Given the description of an element on the screen output the (x, y) to click on. 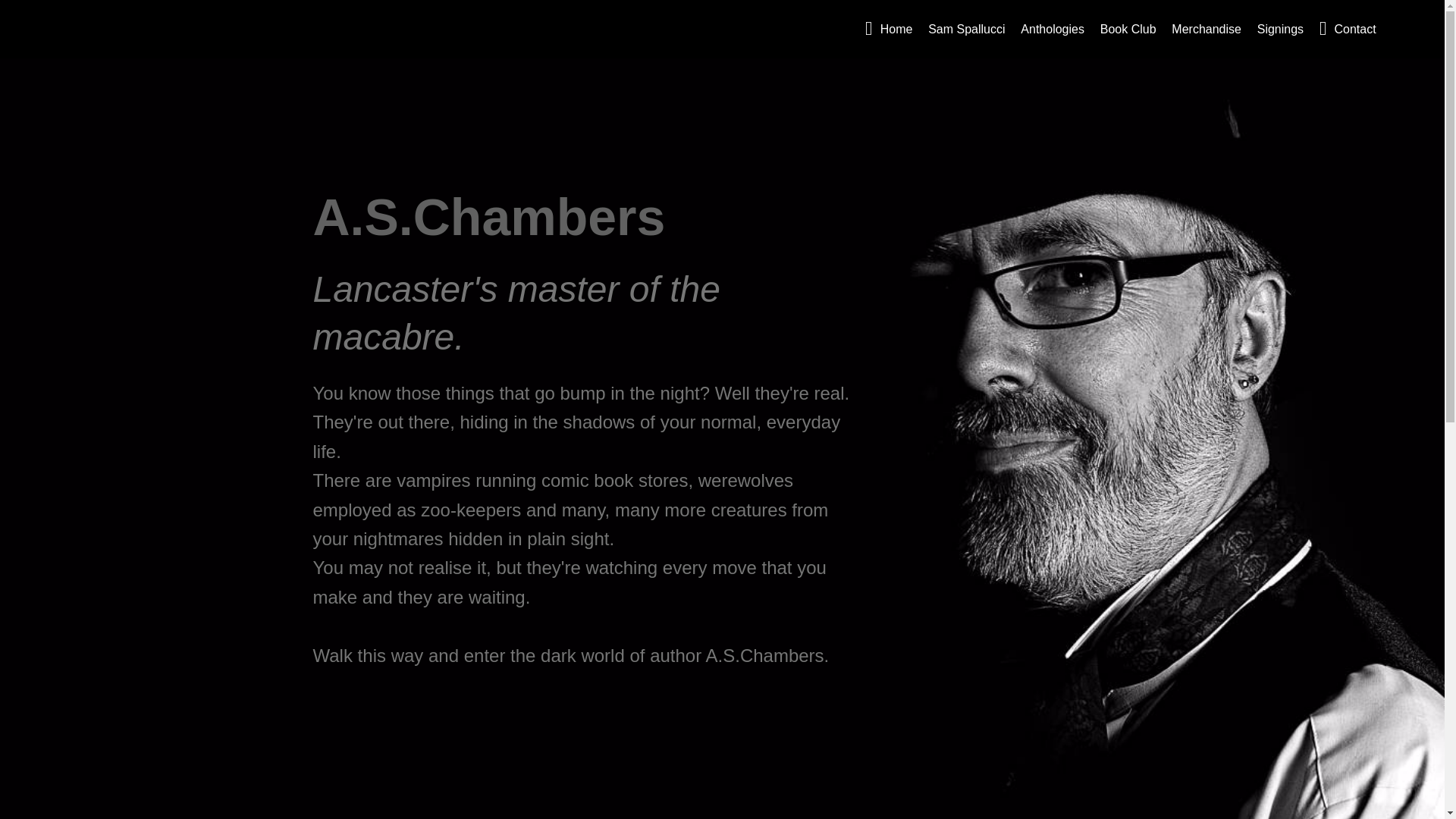
Merchandise (1206, 28)
Signings (1280, 28)
Sam Spallucci (966, 28)
Contact (1347, 28)
Anthologies (1052, 28)
Home (888, 28)
Book Club (1128, 28)
